Given the description of an element on the screen output the (x, y) to click on. 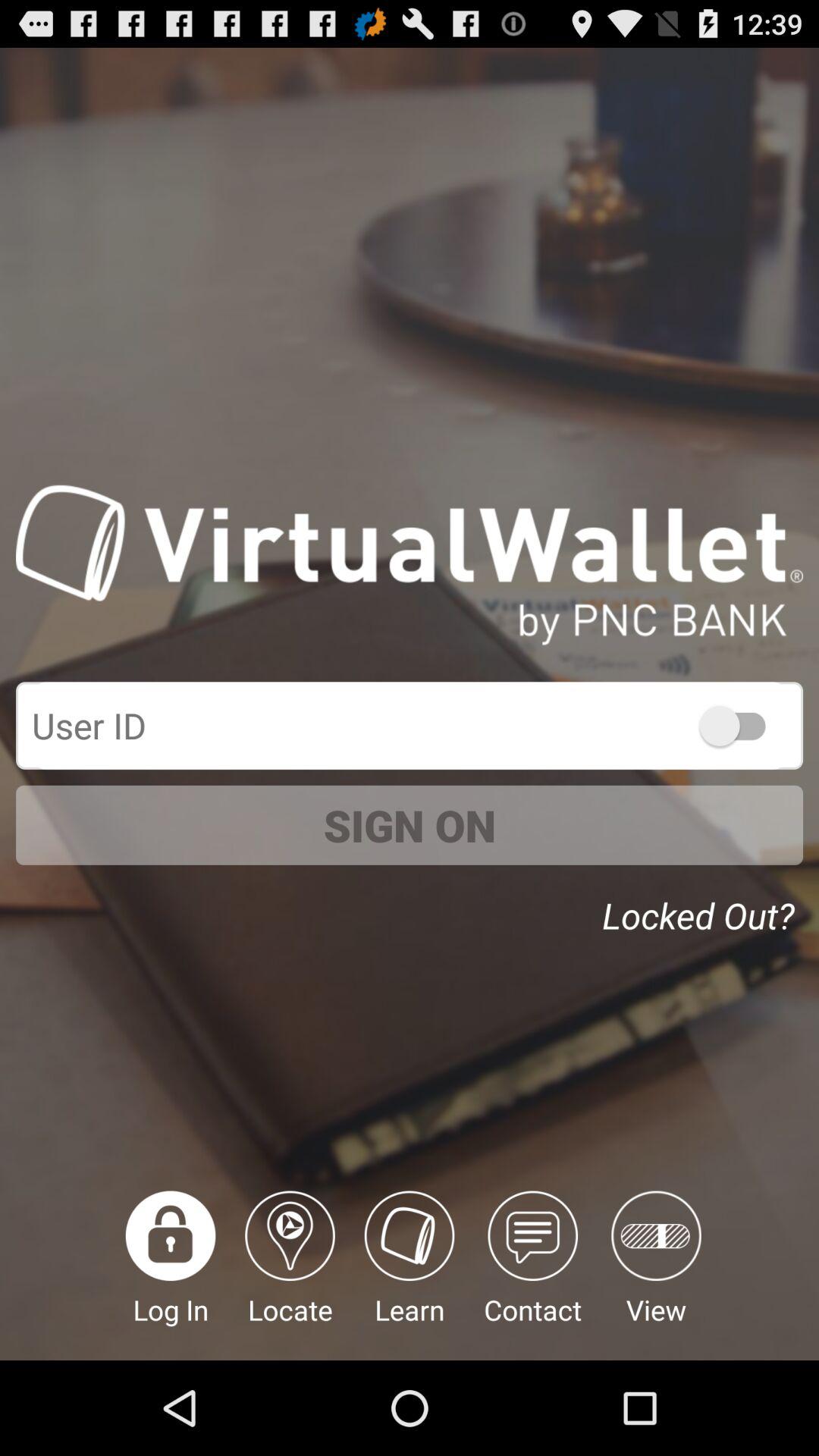
turn on the icon next to learn item (289, 1275)
